Given the description of an element on the screen output the (x, y) to click on. 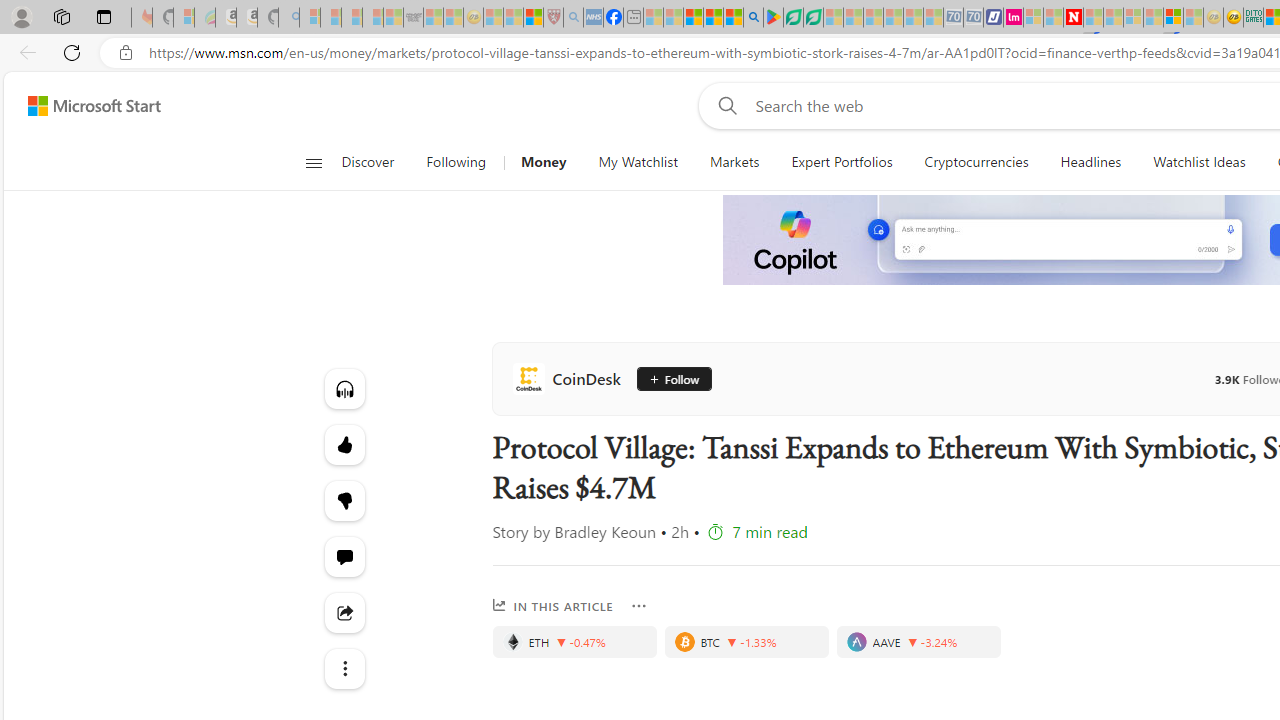
Markets (733, 162)
Jobs - lastminute.com Investor Portal (1012, 17)
Listen to this article (343, 388)
AAVE, Aave. Price is 136.20. Decreased by -3.24% (917, 641)
Terms of Use Agreement (792, 17)
Share this story (343, 612)
Local - MSN (532, 17)
Cryptocurrencies (976, 162)
